Given the description of an element on the screen output the (x, y) to click on. 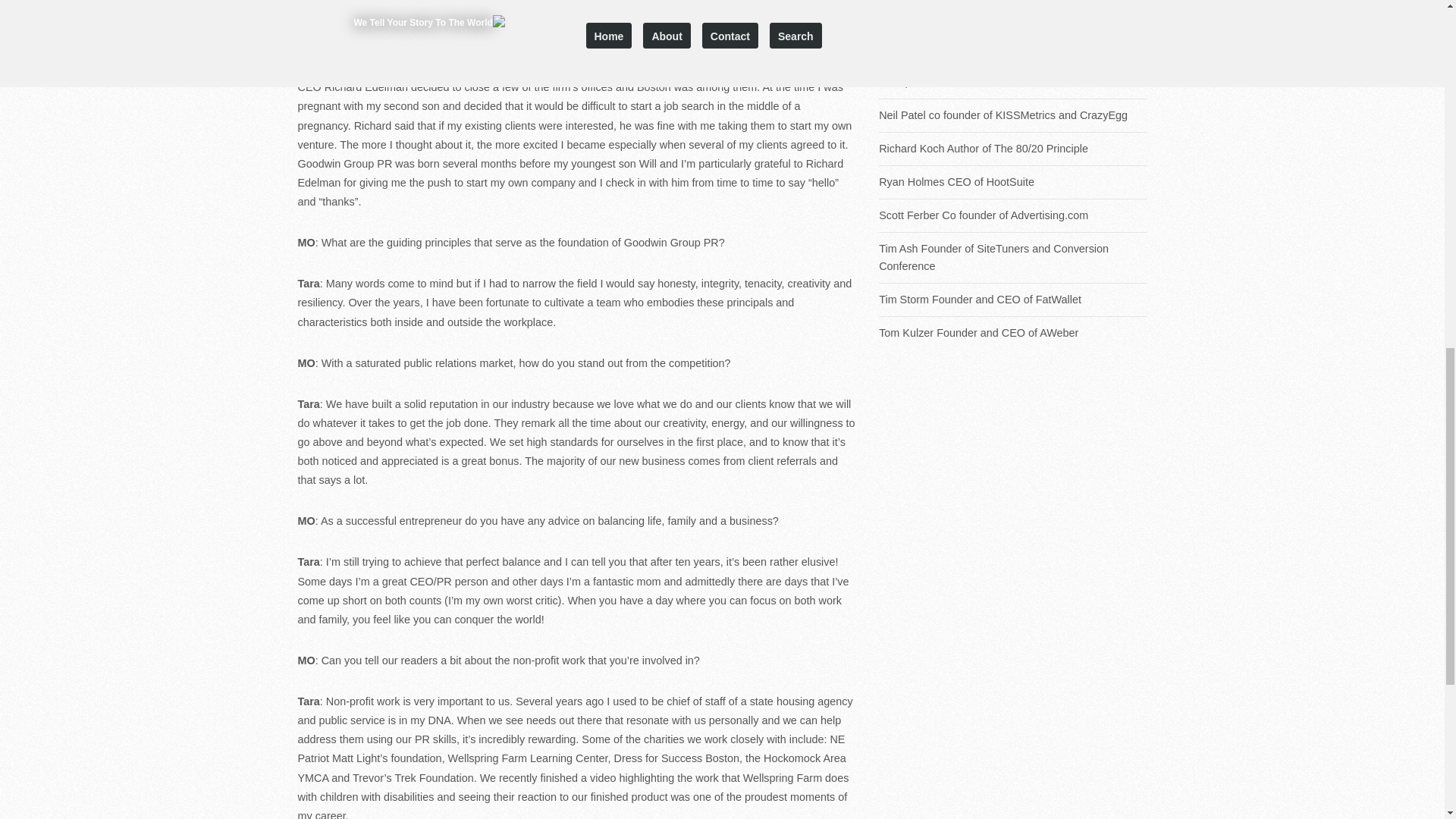
Neil Patel co founder of KISSMetrics and CrazyEgg (1013, 115)
Tim Storm Founder and CEO of FatWallet (1013, 299)
Ryan Holmes CEO of HootSuite (1013, 181)
Scott Ferber Co founder of Advertising.com (1013, 215)
Marc Ostrofsky Business.com and Author of Get Rich Click (1013, 21)
Mike Michalowicz Author of "The Toilet Paper Entrepreneur." (1013, 73)
Tim Ash Founder of SiteTuners and Conversion Conference (1013, 257)
Tom Kulzer Founder and CEO of AWeber (1013, 333)
